Given the description of an element on the screen output the (x, y) to click on. 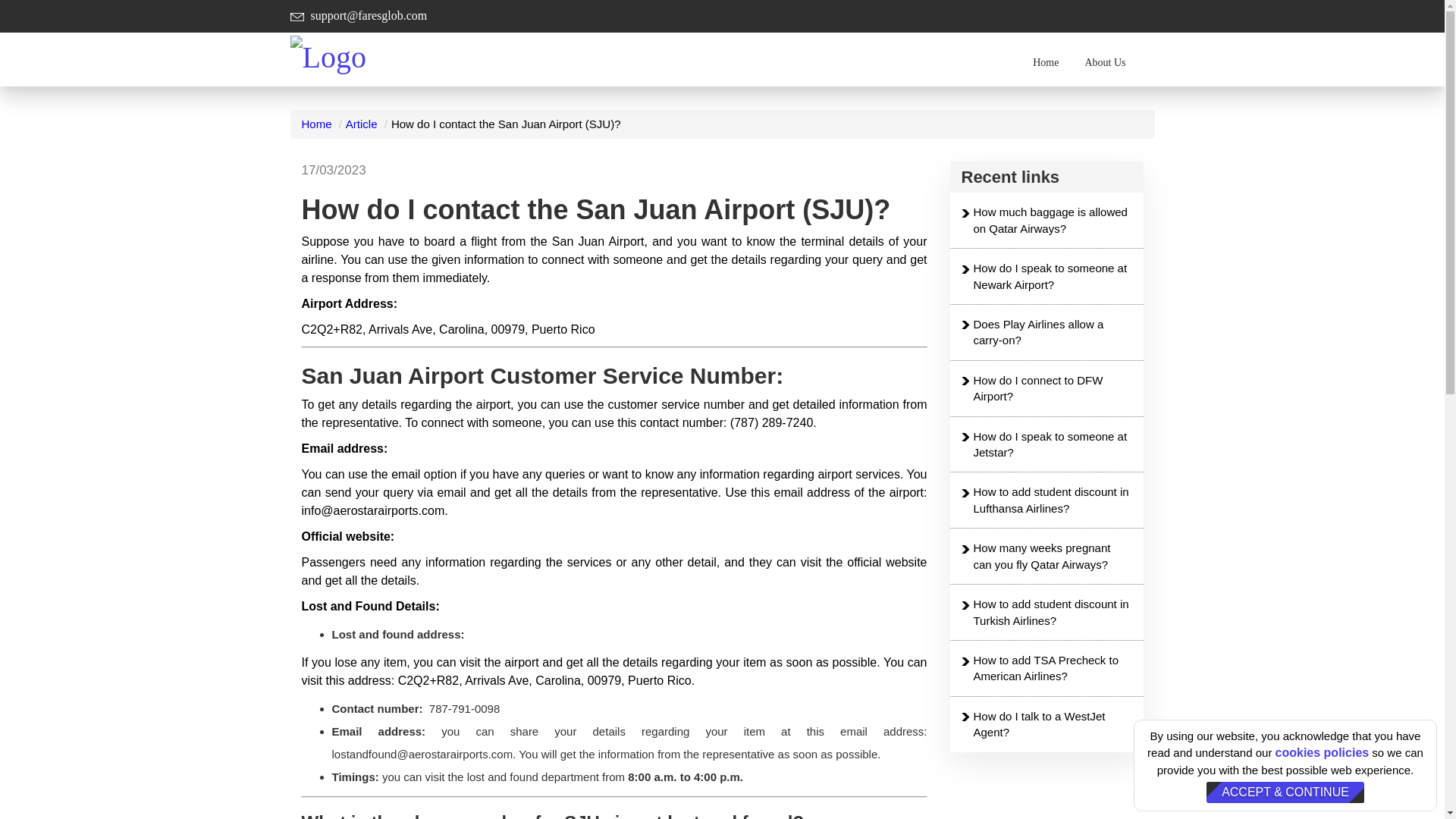
How do I speak to someone at Jetstar? (1053, 444)
How do I speak to someone at Newark Airport? (1053, 276)
How many weeks pregnant can you fly Qatar Airways? (1053, 555)
Does Play Airlines allow a carry-on? (1053, 332)
Home (316, 123)
How to add student discount in Lufthansa Airlines? (1053, 500)
How do I connect to DFW Airport? (1053, 388)
How to add student discount in Turkish Airlines? (1053, 612)
About Us (1105, 62)
Home (1046, 62)
